Given the description of an element on the screen output the (x, y) to click on. 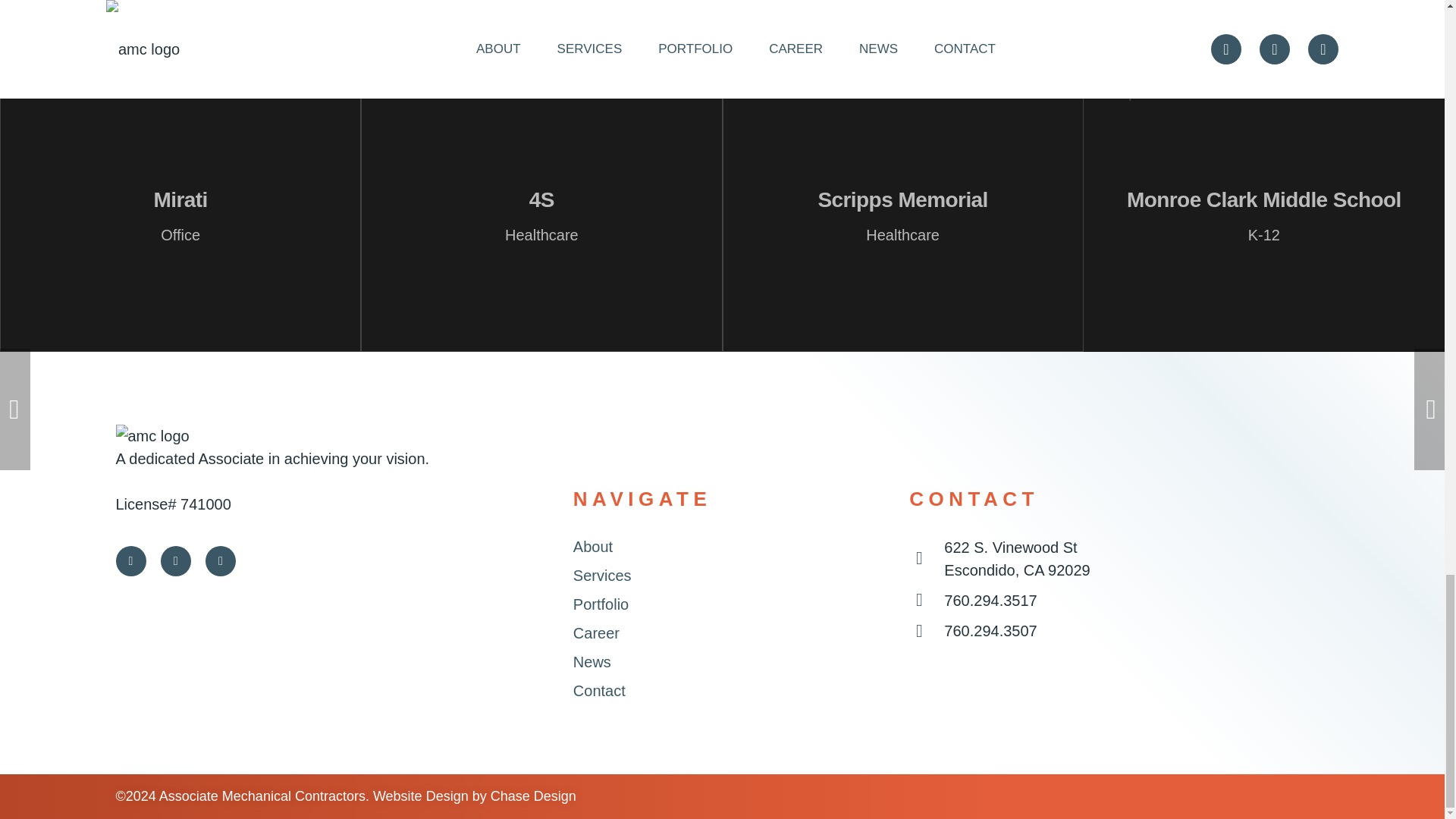
Career (596, 632)
Office (180, 234)
Facebook (175, 561)
LinkedIn (220, 561)
News (592, 661)
K-12 (1263, 234)
Services (602, 575)
Twitter (130, 561)
Portfolio (600, 604)
Healthcare (902, 234)
Healthcare (541, 234)
About (592, 546)
